Given the description of an element on the screen output the (x, y) to click on. 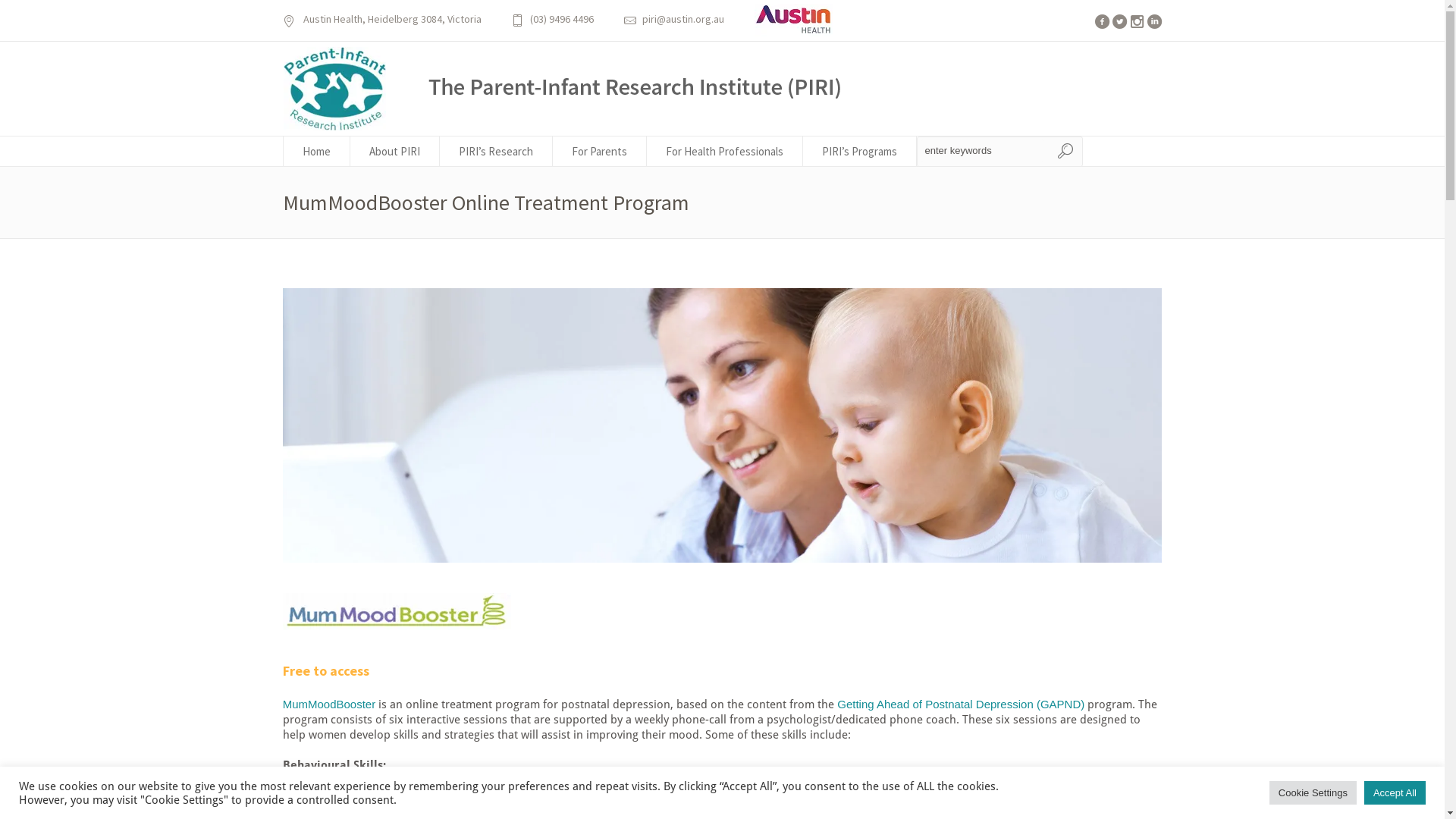
LinkedIn Element type: hover (1153, 20)
MumMoodBooster Online Treatment Program Element type: hover (396, 611)
Getting Ahead of Postnatal Depression (GAPND) Element type: text (960, 703)
Accept All Element type: text (1394, 792)
piri@austin.org.au Element type: text (682, 18)
About PIRI Element type: text (394, 151)
For Health Professionals Element type: text (724, 151)
Facebook Element type: hover (1102, 20)
Twitter Element type: hover (1118, 20)
Instagram Element type: hover (1137, 20)
MumMoodBooster Online Treatment Program Element type: hover (722, 425)
For Parents Element type: text (599, 151)
MumMoodBooster Element type: text (329, 703)
Cookie Settings Element type: text (1312, 792)
Home Element type: text (315, 151)
